Given the description of an element on the screen output the (x, y) to click on. 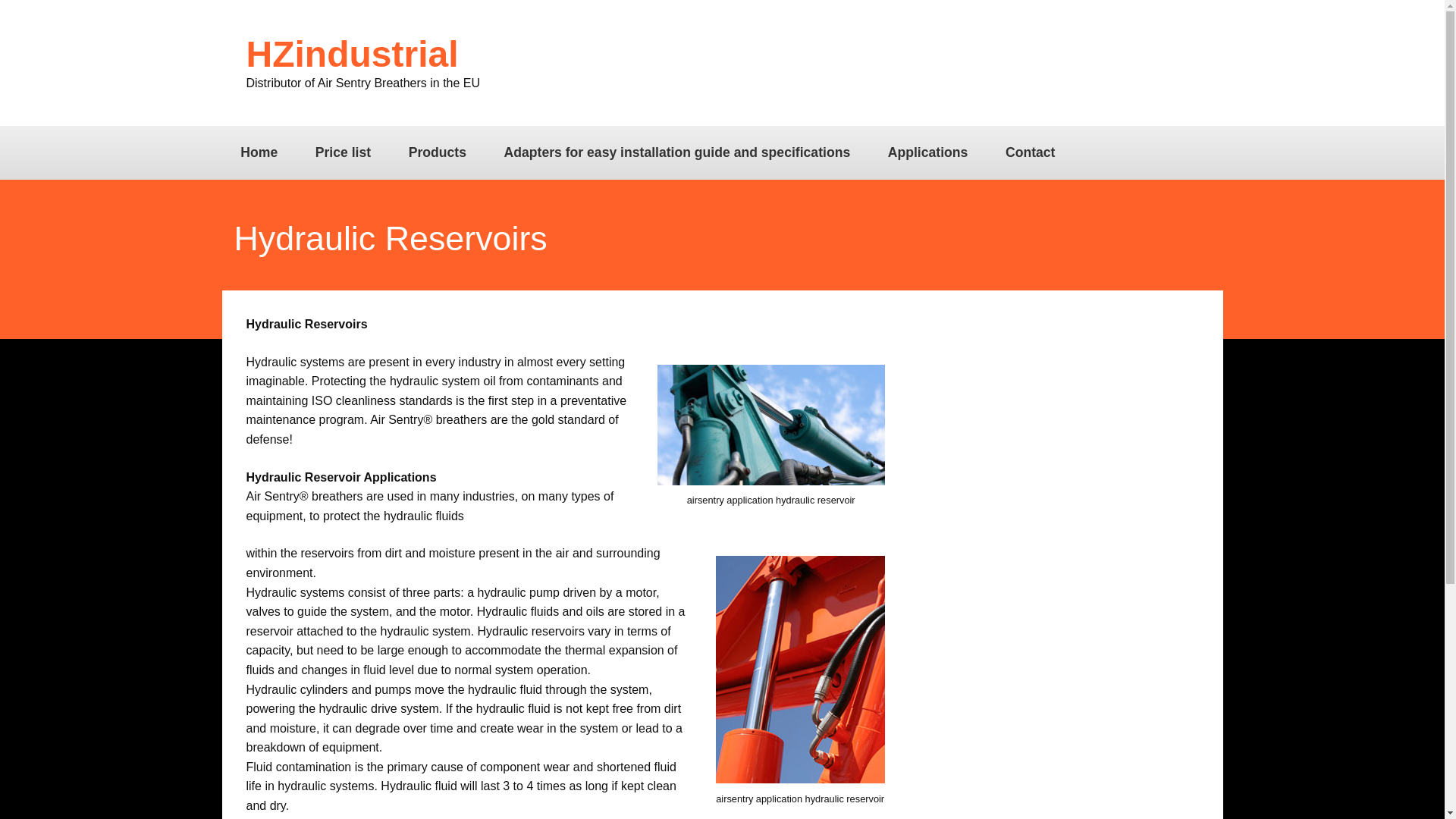
Price list (342, 152)
Applications (927, 152)
Contact (1029, 152)
Products (437, 152)
HZindustrial (363, 54)
HZindustrial (363, 54)
Home (257, 152)
Adapters for easy installation guide and specifications (677, 152)
